Given the description of an element on the screen output the (x, y) to click on. 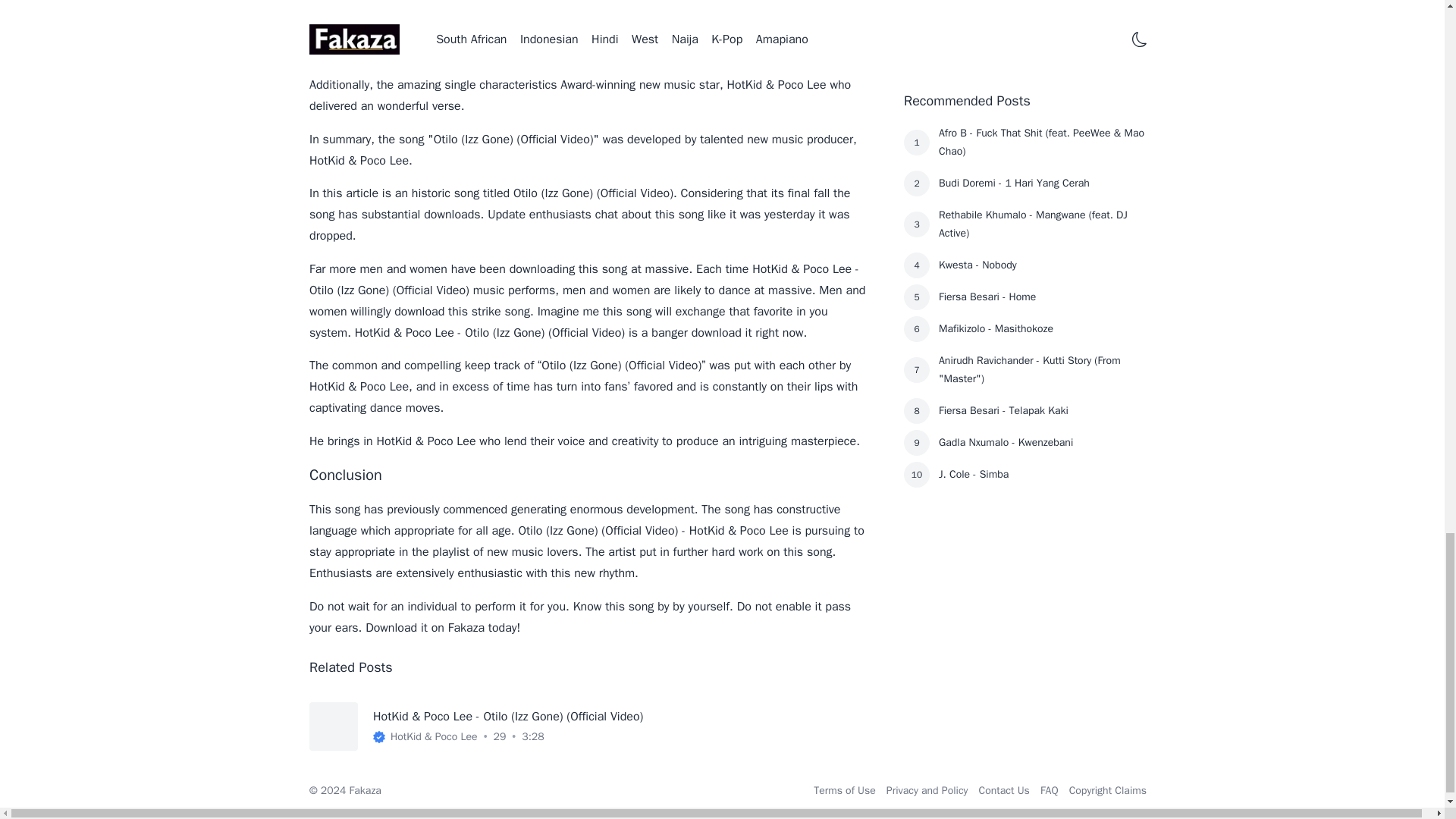
Contact Us (1003, 789)
Terms of Use (844, 789)
Privacy and Policy (927, 789)
Copyright Claims (1107, 789)
FAQ (1049, 789)
